Given the description of an element on the screen output the (x, y) to click on. 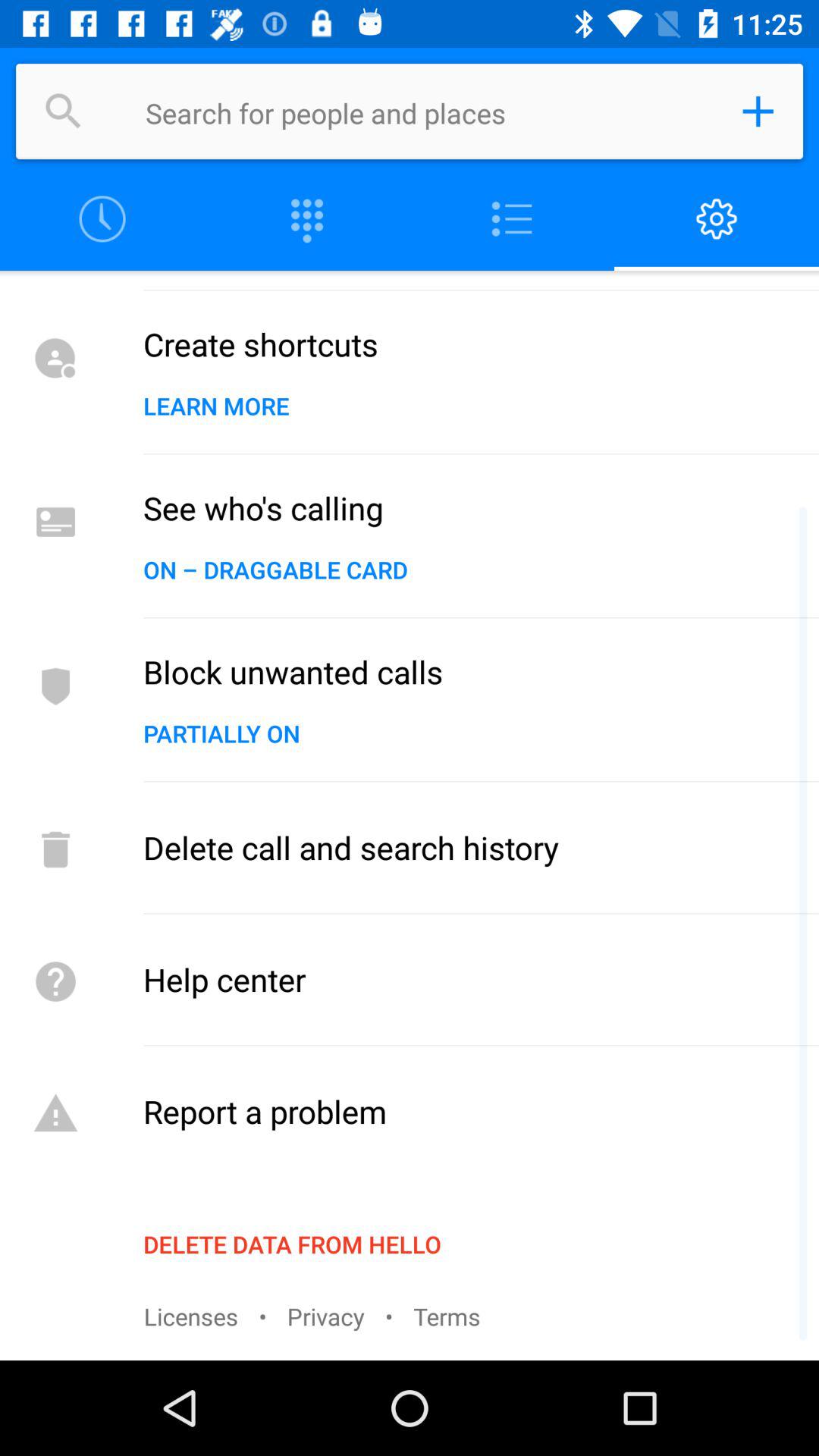
sigue la luz (511, 219)
